Given the description of an element on the screen output the (x, y) to click on. 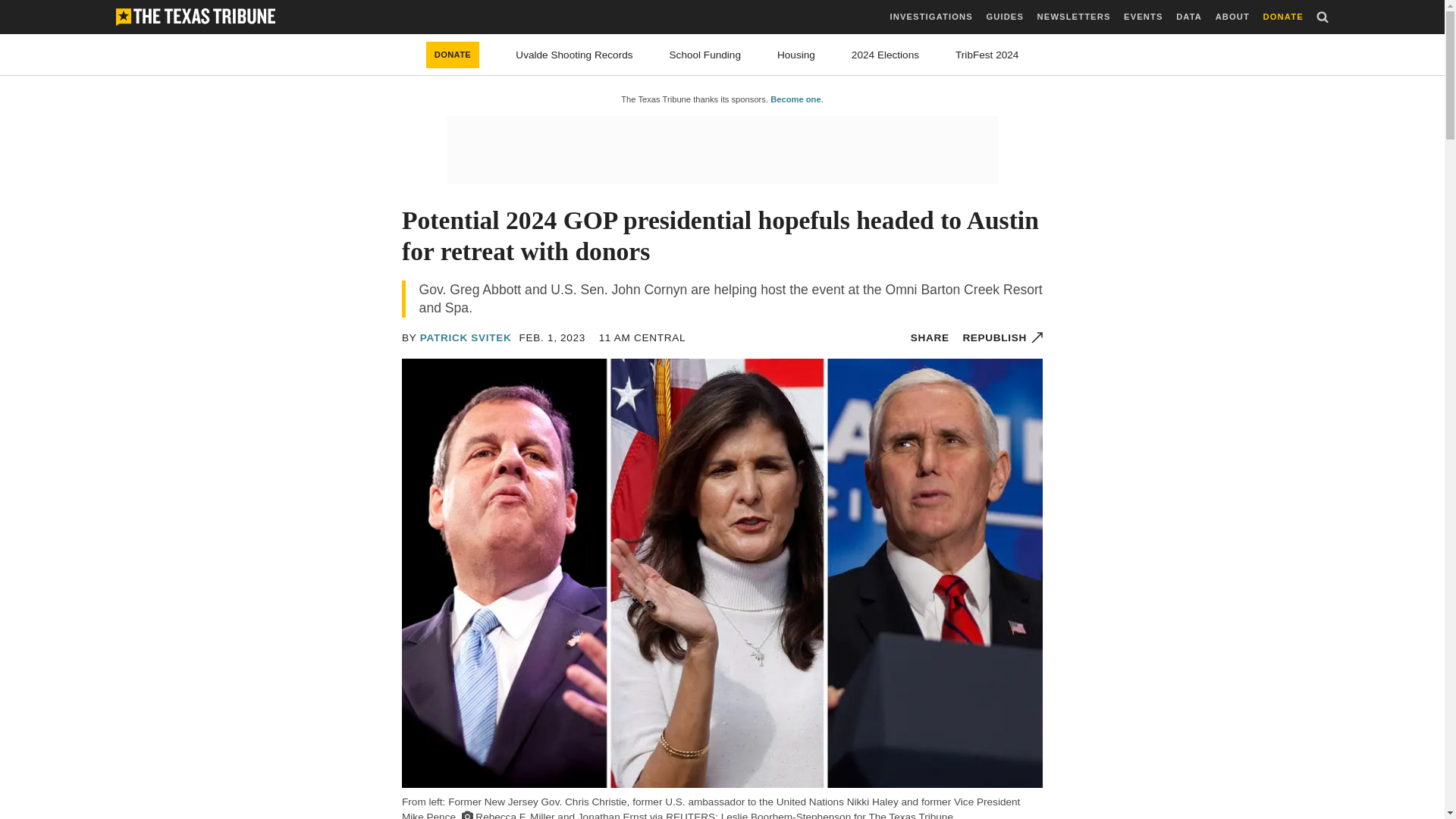
REPUBLISH (1002, 337)
DONATE (453, 54)
GUIDES (1004, 17)
School Funding (705, 54)
INVESTIGATIONS (930, 17)
DONATE (1283, 17)
NEWSLETTERS (1073, 17)
2023-02-01 11:54 CST (552, 337)
3rd party ad content (721, 150)
Housing (796, 54)
